Given the description of an element on the screen output the (x, y) to click on. 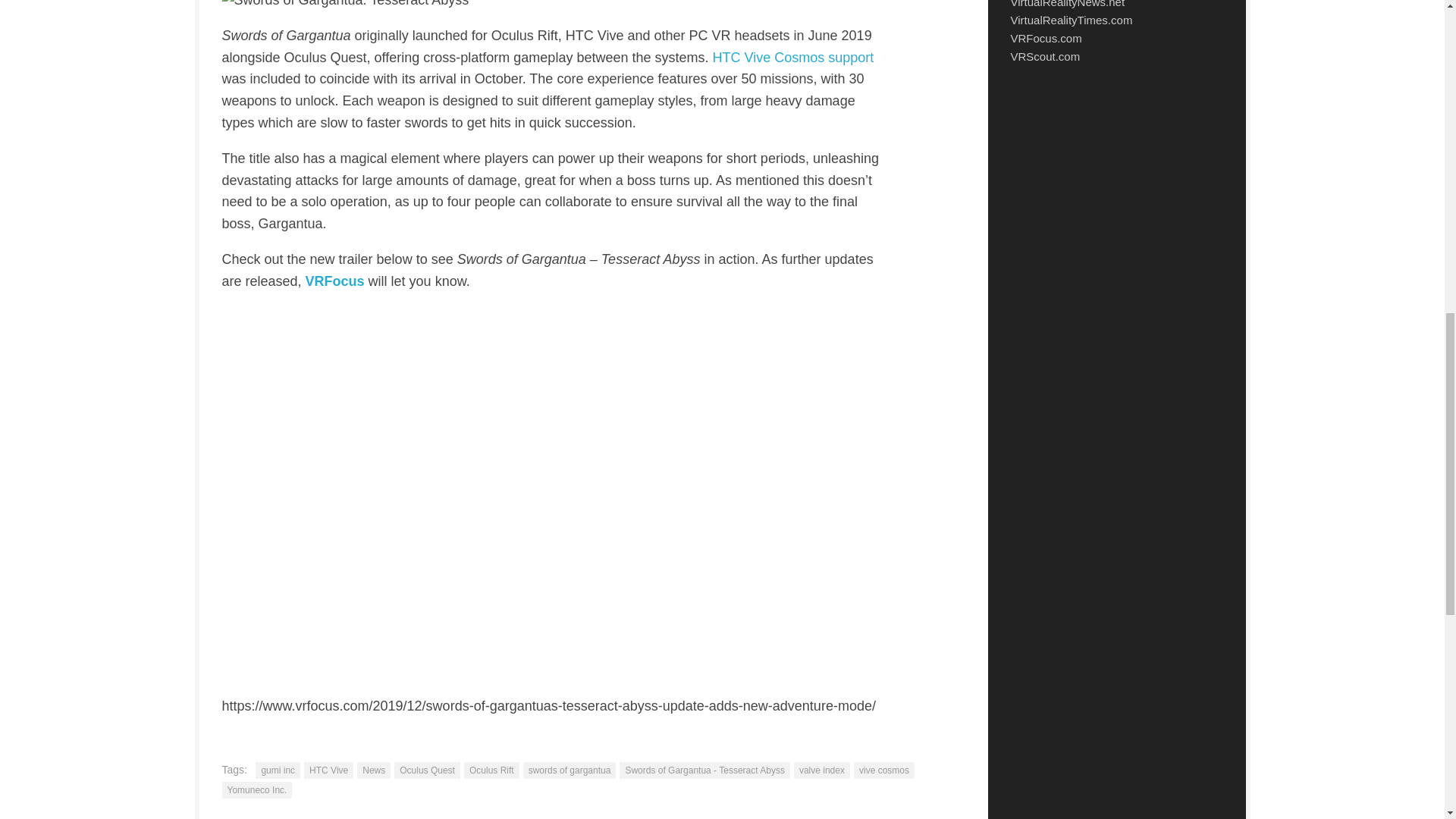
HTC Vive (328, 770)
VRFocus (335, 281)
HTC Vive Cosmos support (792, 57)
swords of gargantua (568, 770)
Oculus Rift (491, 770)
News (373, 770)
valve index (821, 770)
Oculus Quest (427, 770)
gumi inc (277, 770)
Yomuneco Inc. (256, 790)
vive cosmos (883, 770)
Swords of Gargantua - Tesseract Abyss (705, 770)
